Given the description of an element on the screen output the (x, y) to click on. 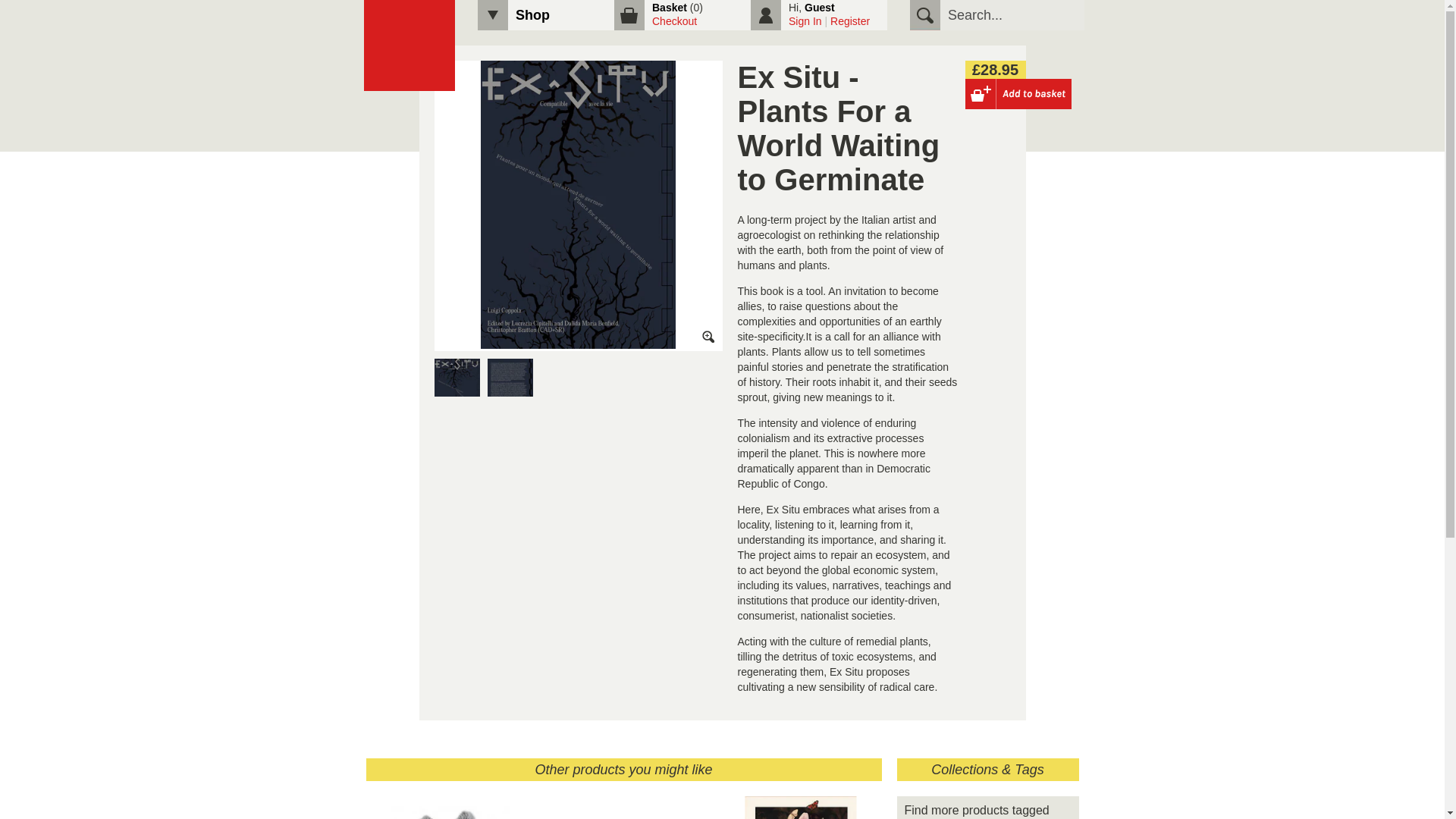
Search (925, 15)
Checkout (674, 21)
Shop (532, 14)
Add to cart (1016, 93)
Guest (819, 7)
Register (849, 21)
Studio Ghibli Cat Bus and Totoro Plush (623, 815)
Add to cart (1016, 93)
Sign In (805, 21)
Basket (669, 7)
The Flower Oracle (799, 815)
Plush Grey Totoro (446, 815)
